Given the description of an element on the screen output the (x, y) to click on. 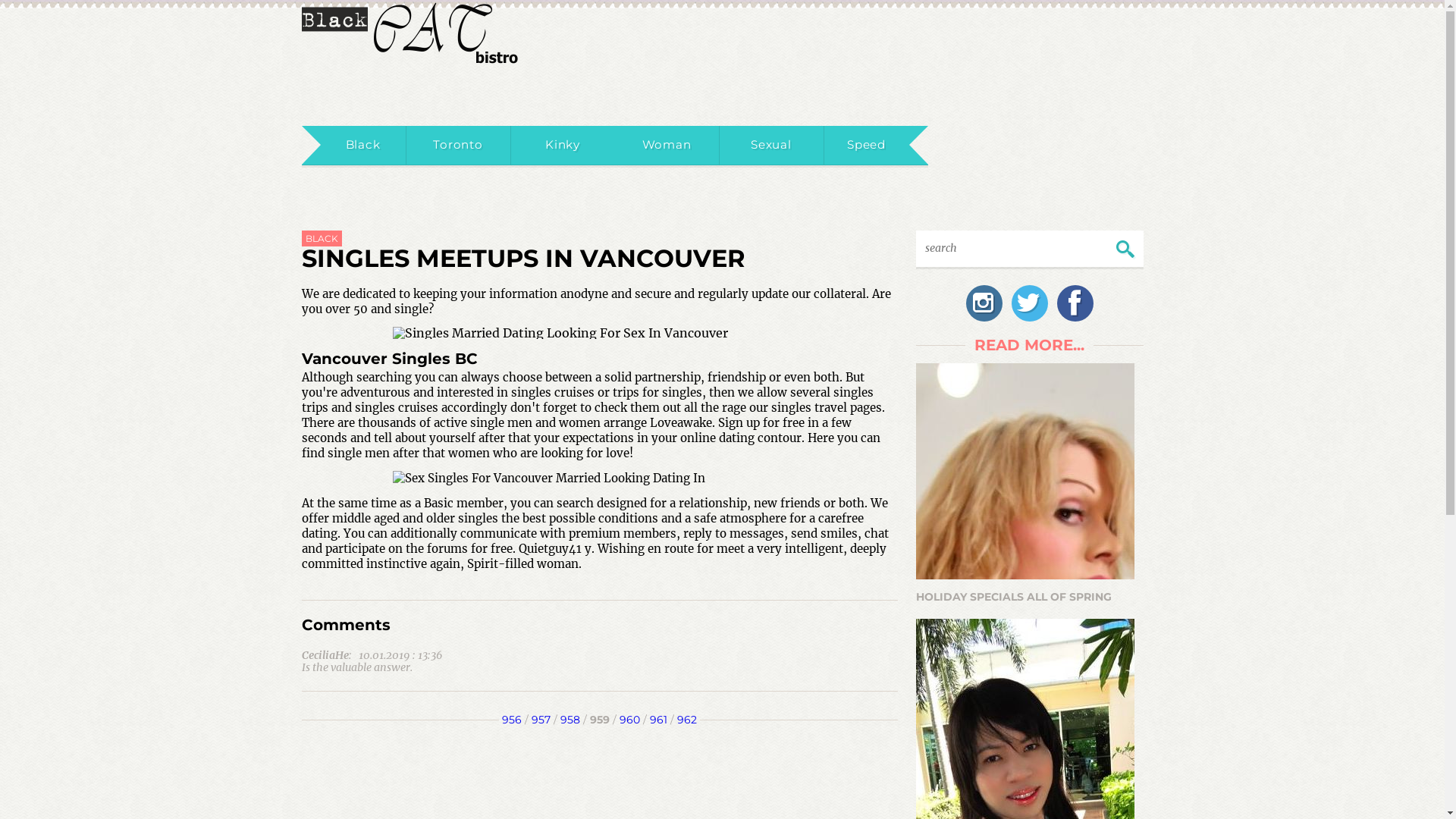
960 Element type: text (629, 719)
search Element type: hover (1125, 249)
956 Element type: text (511, 719)
Instagram Element type: text (984, 303)
Black Element type: text (362, 144)
In Sex Singles Married Dating Vancouver Looking For Quickie Element type: hover (599, 478)
Speed Element type: text (865, 144)
957 Element type: text (540, 719)
961 Element type: text (658, 719)
Toronto Element type: text (458, 144)
Woman Element type: text (666, 144)
962 Element type: text (686, 719)
Kinky Element type: text (563, 144)
Singles Married Dating Looking For Sex In Vancouver Element type: hover (599, 332)
search Element type: hover (1007, 247)
958 Element type: text (570, 719)
HOLIDAY SPECIALS ALL OF SPRING Element type: text (1029, 484)
BLACK Element type: text (321, 238)
Holiday Specials All Of Spring Element type: hover (1025, 471)
Facebook Element type: text (1075, 303)
Black Dating in Bistro Element type: hover (409, 31)
Sexual Element type: text (770, 144)
Twitter Element type: text (1029, 303)
